Given the description of an element on the screen output the (x, y) to click on. 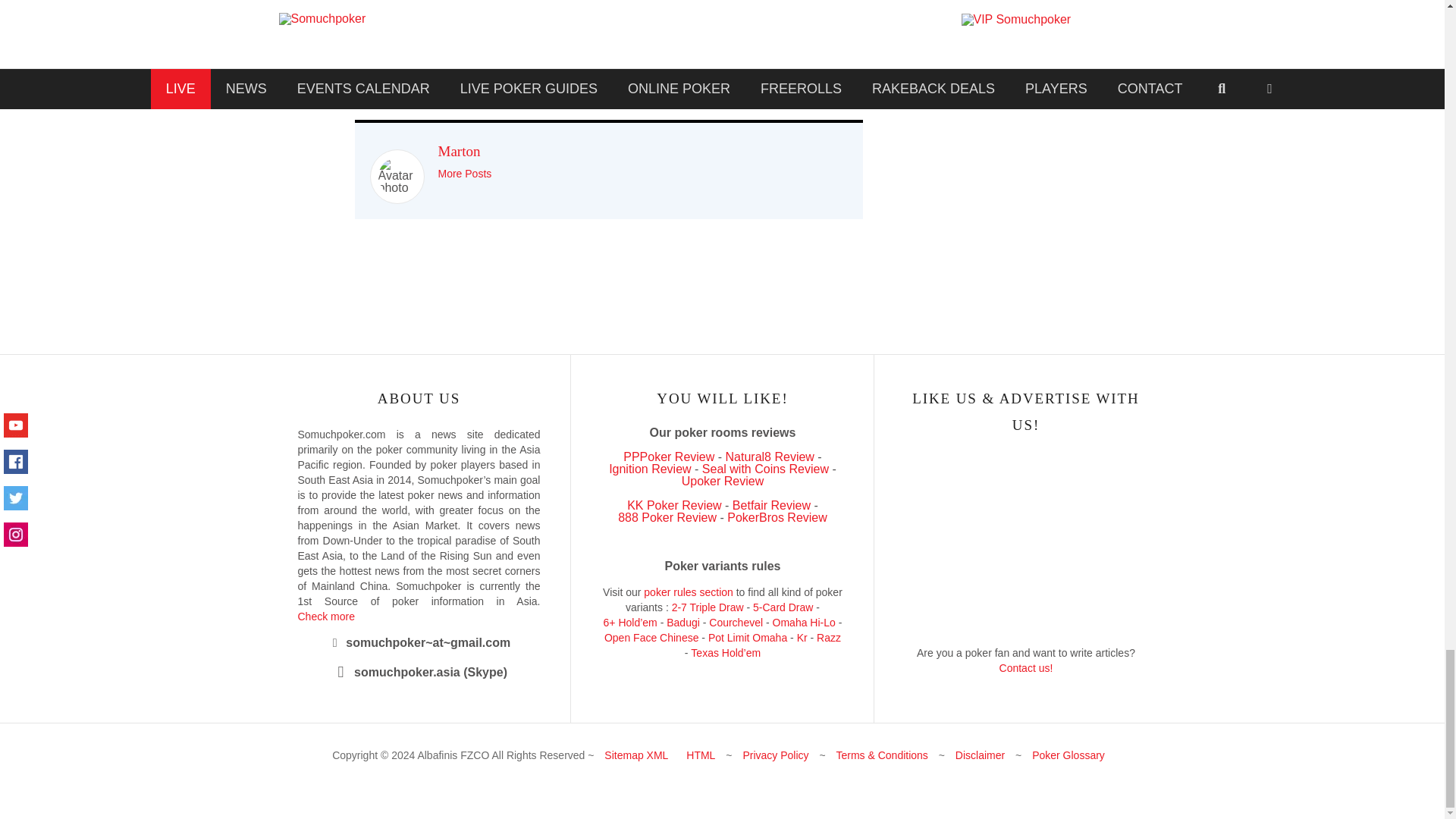
Marton (459, 150)
More posts by Marton (465, 173)
Poker in Mexico 3 (395, 176)
